Given the description of an element on the screen output the (x, y) to click on. 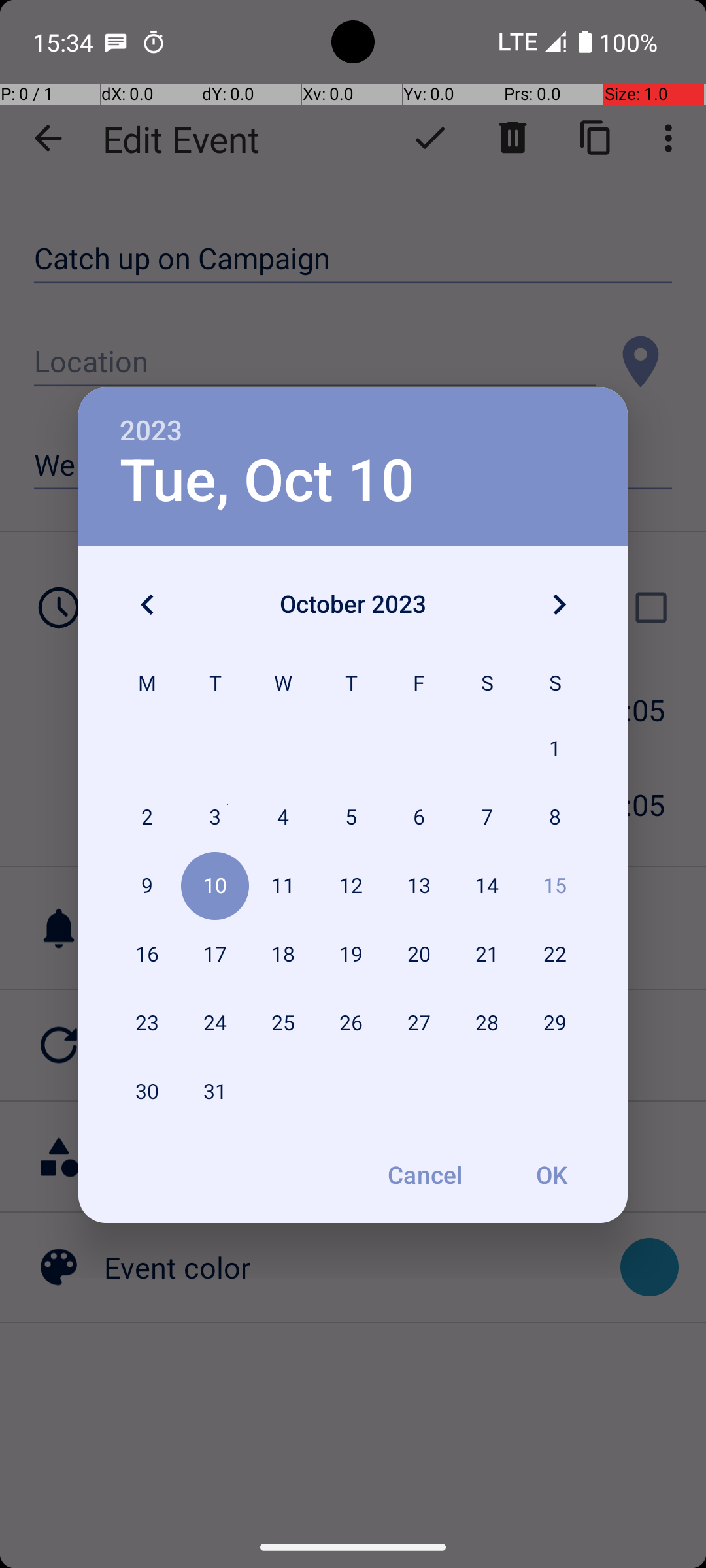
Tue, Oct 10 Element type: android.widget.TextView (267, 480)
